Given the description of an element on the screen output the (x, y) to click on. 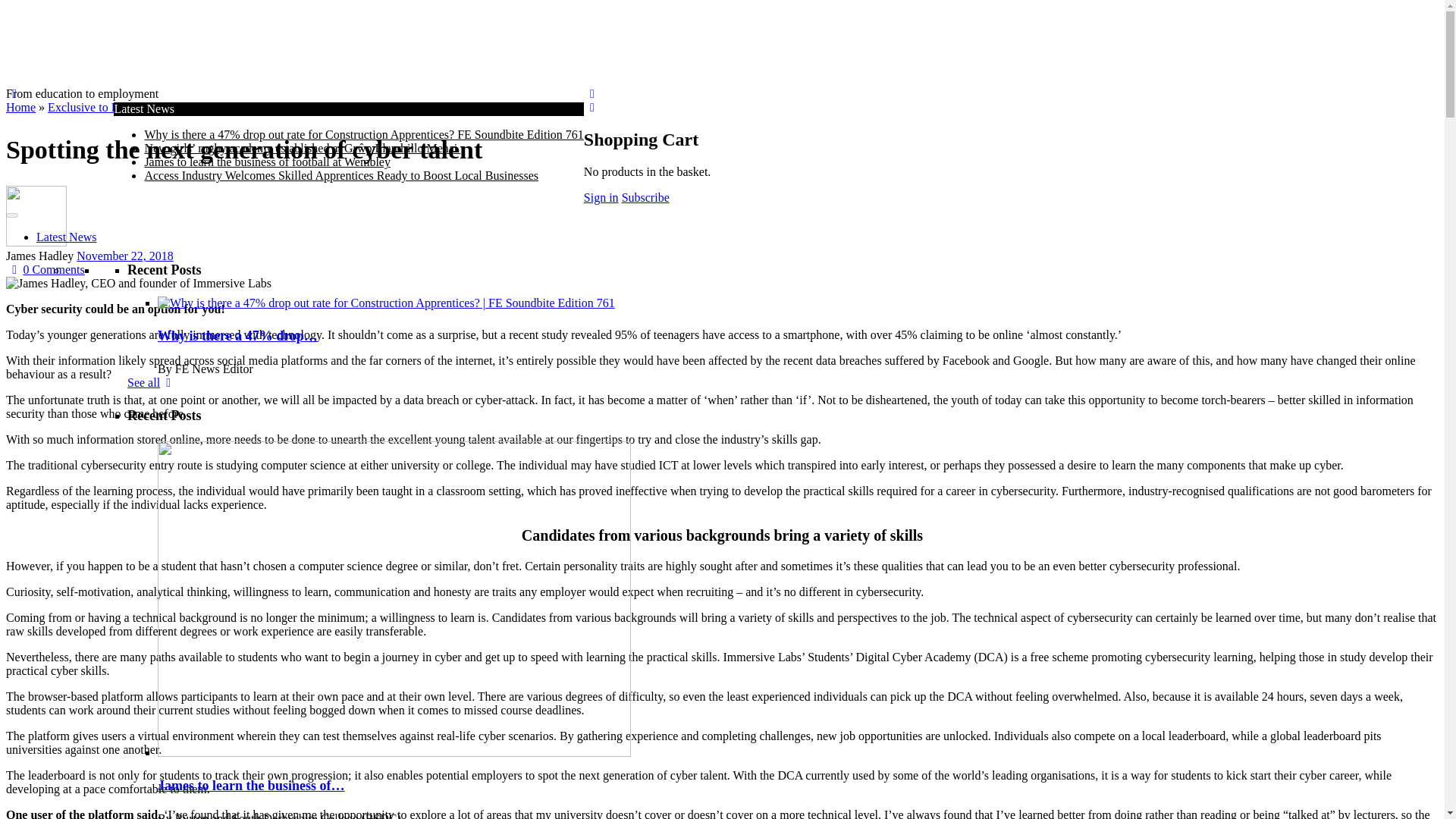
James to learn the business of football at Wembley (267, 161)
Latest News (66, 236)
Sign in (600, 196)
See all (152, 382)
Subscribe (645, 196)
